Given the description of an element on the screen output the (x, y) to click on. 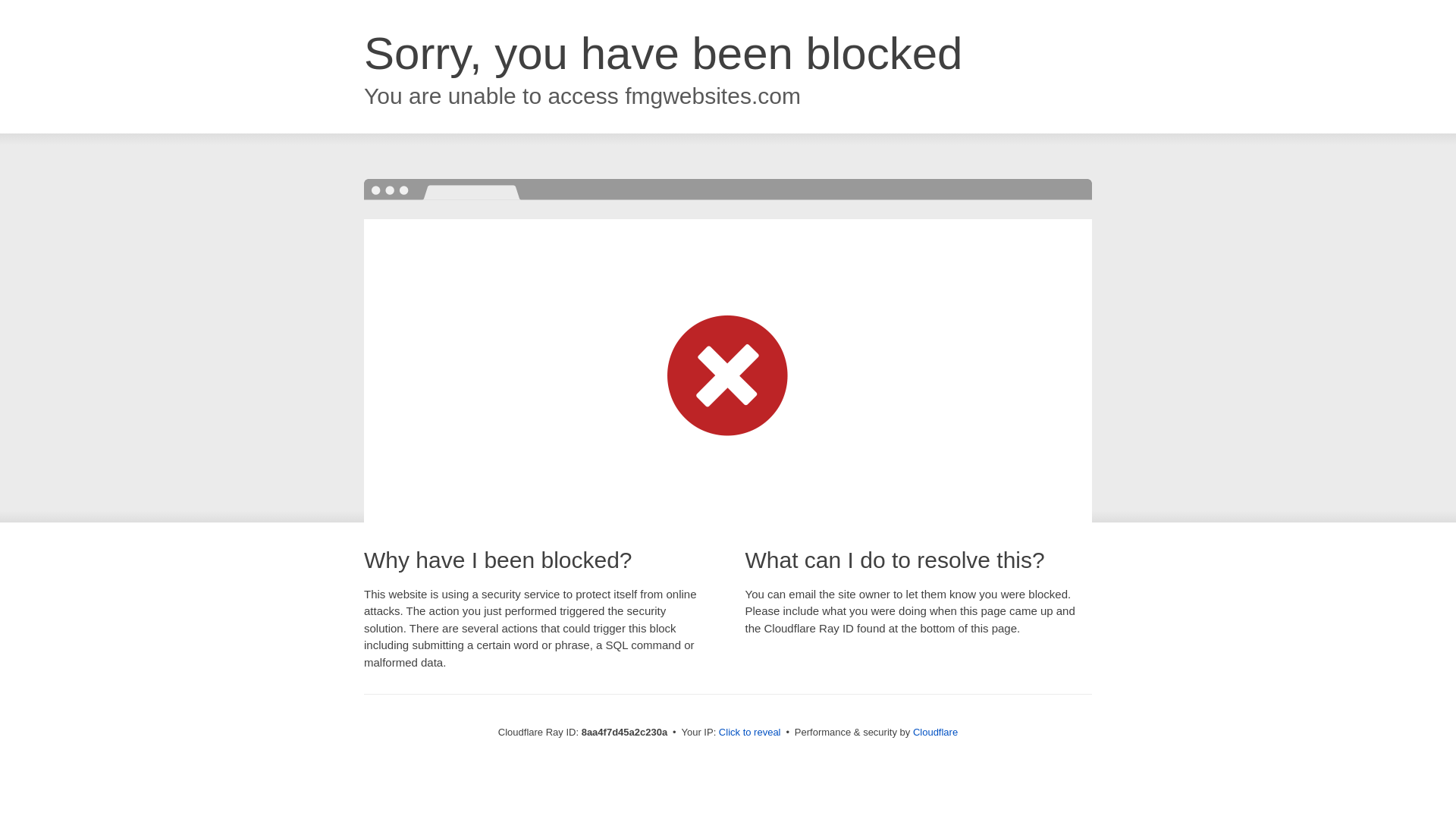
Click to reveal (749, 732)
Cloudflare (935, 731)
